Given the description of an element on the screen output the (x, y) to click on. 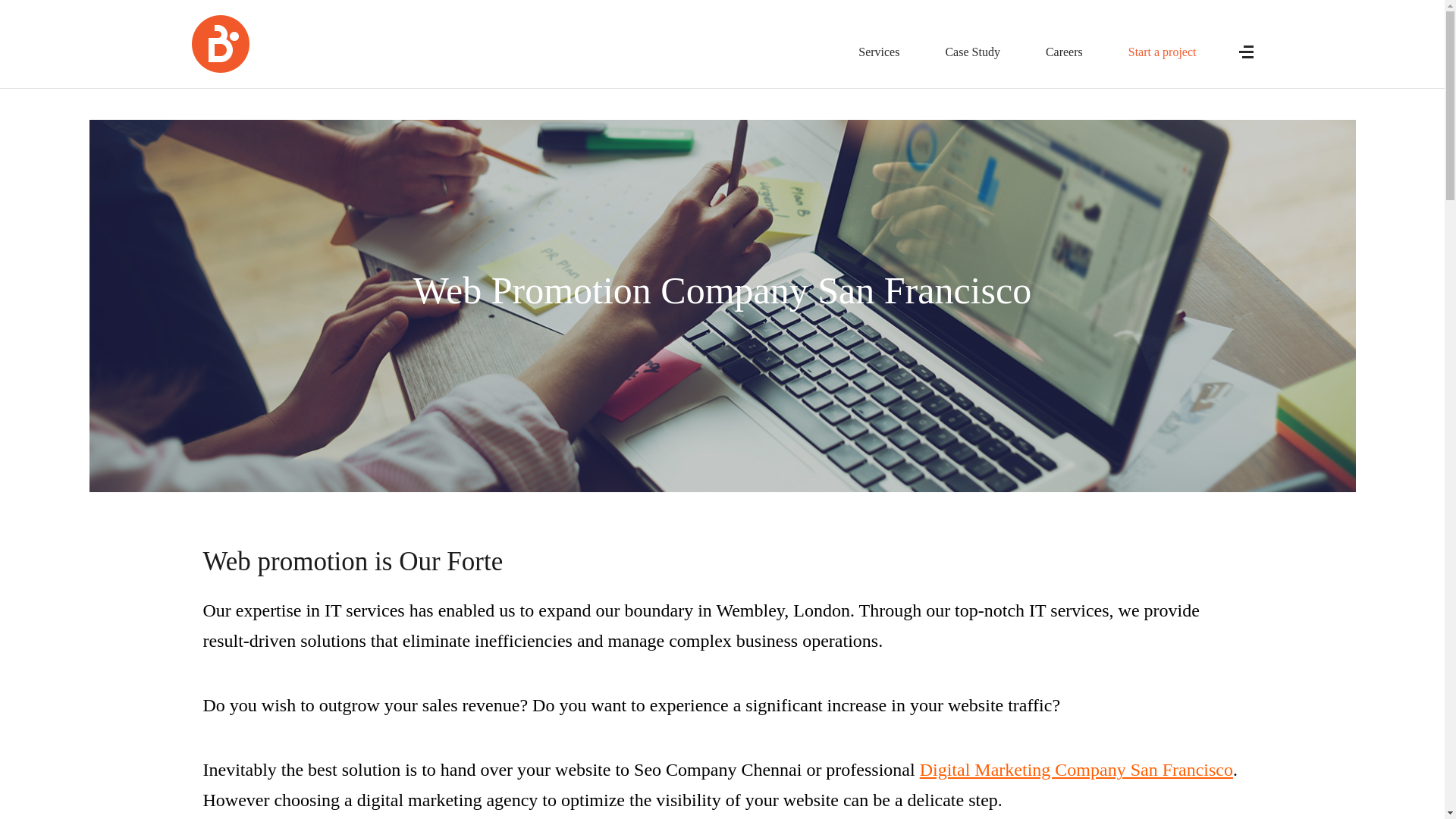
Start a project (1162, 51)
Careers (1064, 51)
Start a project (1162, 51)
Careers (1064, 51)
Blazedream (219, 43)
Services (879, 51)
Case Study (971, 51)
Services (879, 51)
Case Study (971, 51)
